Given the description of an element on the screen output the (x, y) to click on. 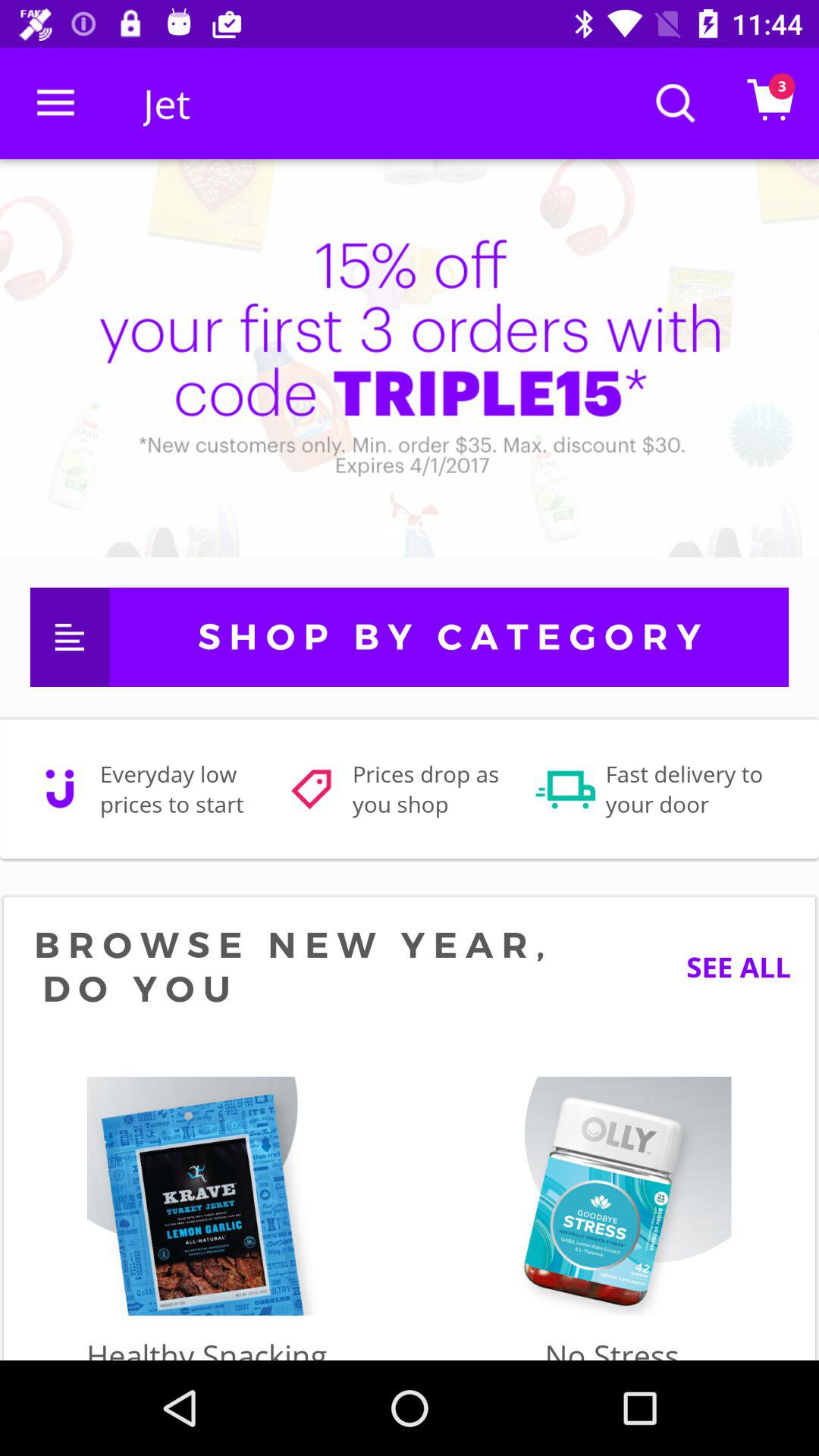
open the icon next to jet icon (55, 103)
